Given the description of an element on the screen output the (x, y) to click on. 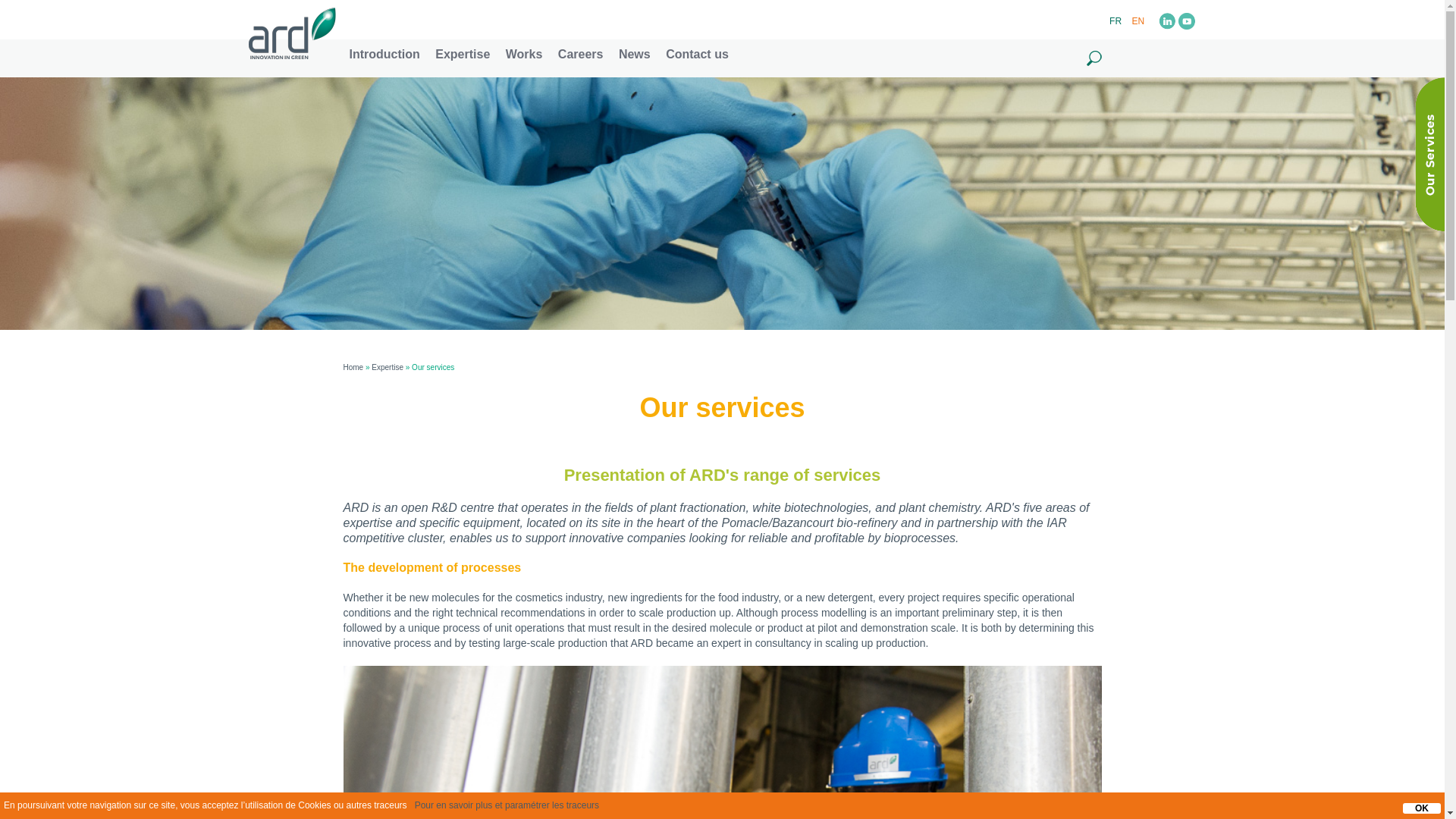
EN (1139, 20)
Our services (1139, 20)
FR (1116, 20)
Introduction (384, 53)
Expertise (462, 53)
Notre offre de services (1116, 20)
